Given the description of an element on the screen output the (x, y) to click on. 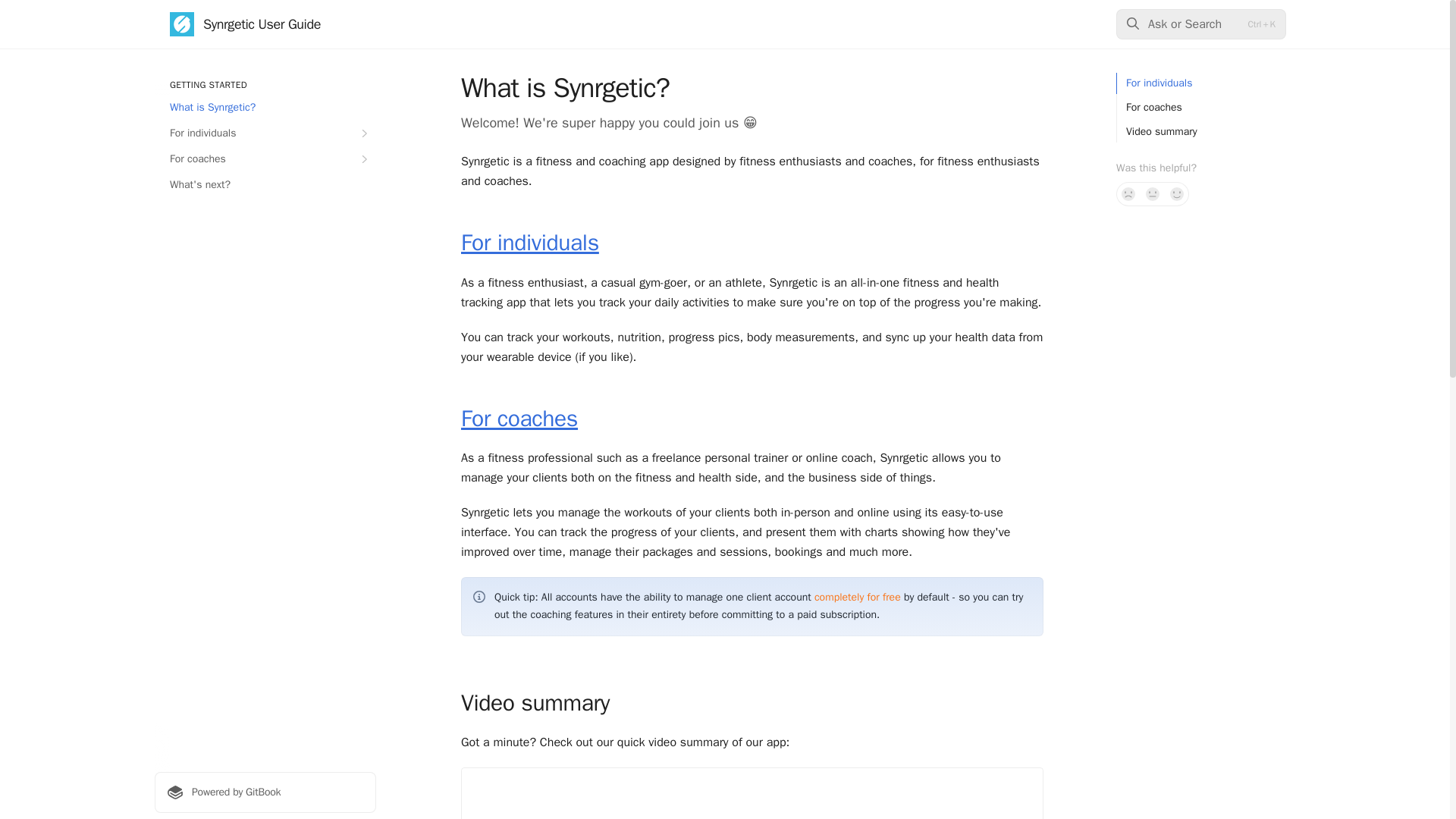
What's next? (264, 184)
Not sure (1152, 193)
For individuals (529, 242)
For individuals (264, 133)
For coaches (264, 159)
Video summary (1156, 131)
What is Synrgetic? (264, 107)
No (1128, 193)
Powered by GitBook (264, 792)
Synrgetic User Guide (245, 24)
